Given the description of an element on the screen output the (x, y) to click on. 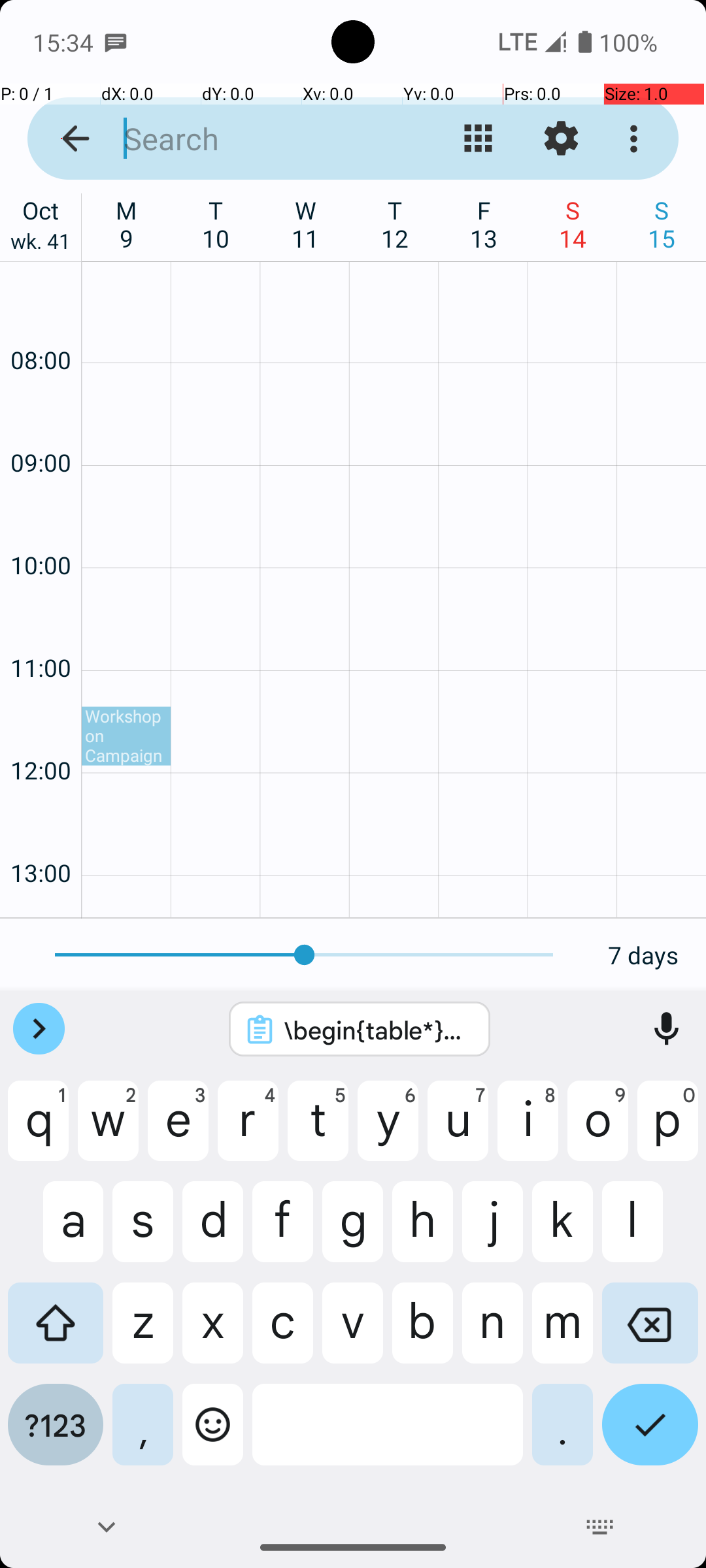
\begin{table*}[t!] \centering \renewcommand\arraystretch{1.1} \tabcolsep=0.05cm {\fontsize{10pt}{12pt}\selectfont \begin{tabular}{cccccccccc} \hline % \toprule          \multirow{2}{*}{LVLMs} & \multirow{2}{*}{\parbox{1.5cm}{\centering Model\\Size}}   & \multirow{2}{*}{\parbox{1.5cm}{\centering GUI\\Specific}} & \multicolumn{2}{c}{Mobile}        & \multicolumn{2}{c}{Desktop}       & \multicolumn{2}{c}{Web}           & \multirow{2}{*}{Average} \\ \cline{4-9}          &    &                               & Text            & Icon/Widget     & Text            & Icon/Widget     & Text            & Icon/Widget     &                          \\  % \midrule \hline MiniGPT-v2     & 7B   & \textcolor{darkred}{\ding{55}}                              &  8.4\%               & 6.6\%                & 6.2\%                & 2.9\%                & 6.5\%                & 3.4\%                & 5.7\%                         \\ Qwen-VL  & 9.6B   & \textcolor{darkred}{\ding{55}}                             & 9.5\%           & 4.8\%           & 5.7\%           & 5.0\%           & 3.5\%           & 2.4\%           & 5.2\%                    \\  GPT-4V   & -    & \textcolor{darkred}{\ding{55}}     & 22.6\%    & 24.5\%    & 20.2\%    & 11.8\%    &9.2\%  & 8.8\%     & 16.2\% \\ \hline Fuyu     & 8B   & \textcolor{darkgreen}{\ding{51}}                               & 41.0\%          & 1.3\%           & 33.0\%          & 3.6\%           & 33.9\%          & 4.4\%           & 19.5\%                   \\ CogAgent & 18B   & \textcolor{darkgreen}{\ding{51}}                               & 67.0\%          & 24.0\%          & \textbf{74.2\%} & 20.0\%          & \textbf{70.4\%} & 28.6\% & 47.4\%                   \\ \seek & 9.6B   & \textcolor{darkgreen}{\ding{51}}                              & \textbf{78.0\%} & \textbf{52.0\%} & 72.2\%          & \textbf{30.0\%} & 55.7\%          & \textbf{32.5\%} & \textbf{53.4\%}          \\  \hline % \bottomrule \end{tabular} } \caption{Results of different LVLMs on \seesp. The best results in each column are highlighted in \textbf{bold}. Benefiting from efficient GUI grounding pre-training, \seek significantly enhanced LVLMs' ability to locate GUI elements following instructions, and surpassed the strong baseline CogAgent with a smaller model size.} \label{tab:screenspot} \vspace{-1.0em} \end{table*} Element type: android.widget.TextView (376, 1029)
